Given the description of an element on the screen output the (x, y) to click on. 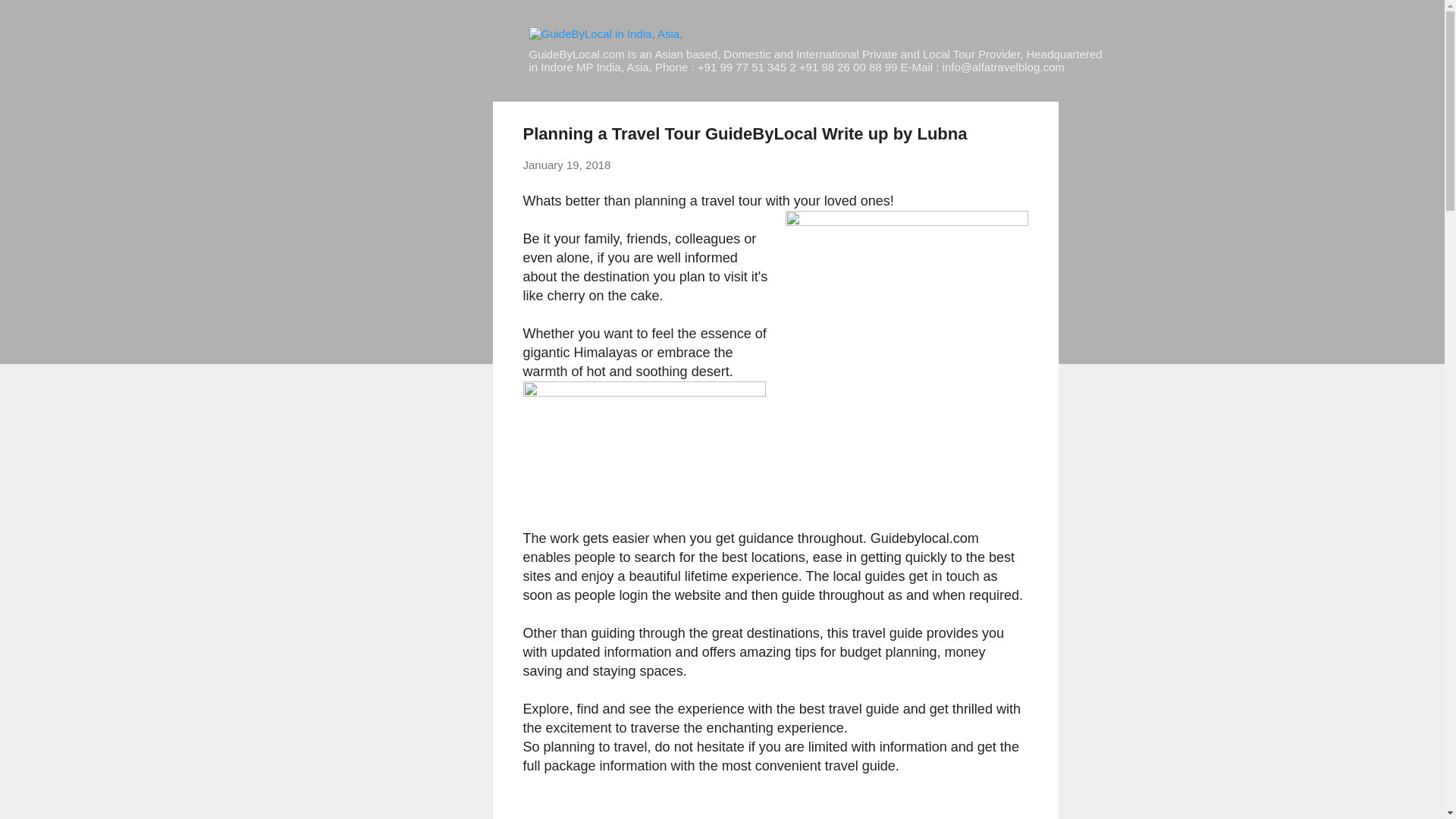
permanent link (566, 164)
Search (29, 18)
January 19, 2018 (566, 164)
